Given the description of an element on the screen output the (x, y) to click on. 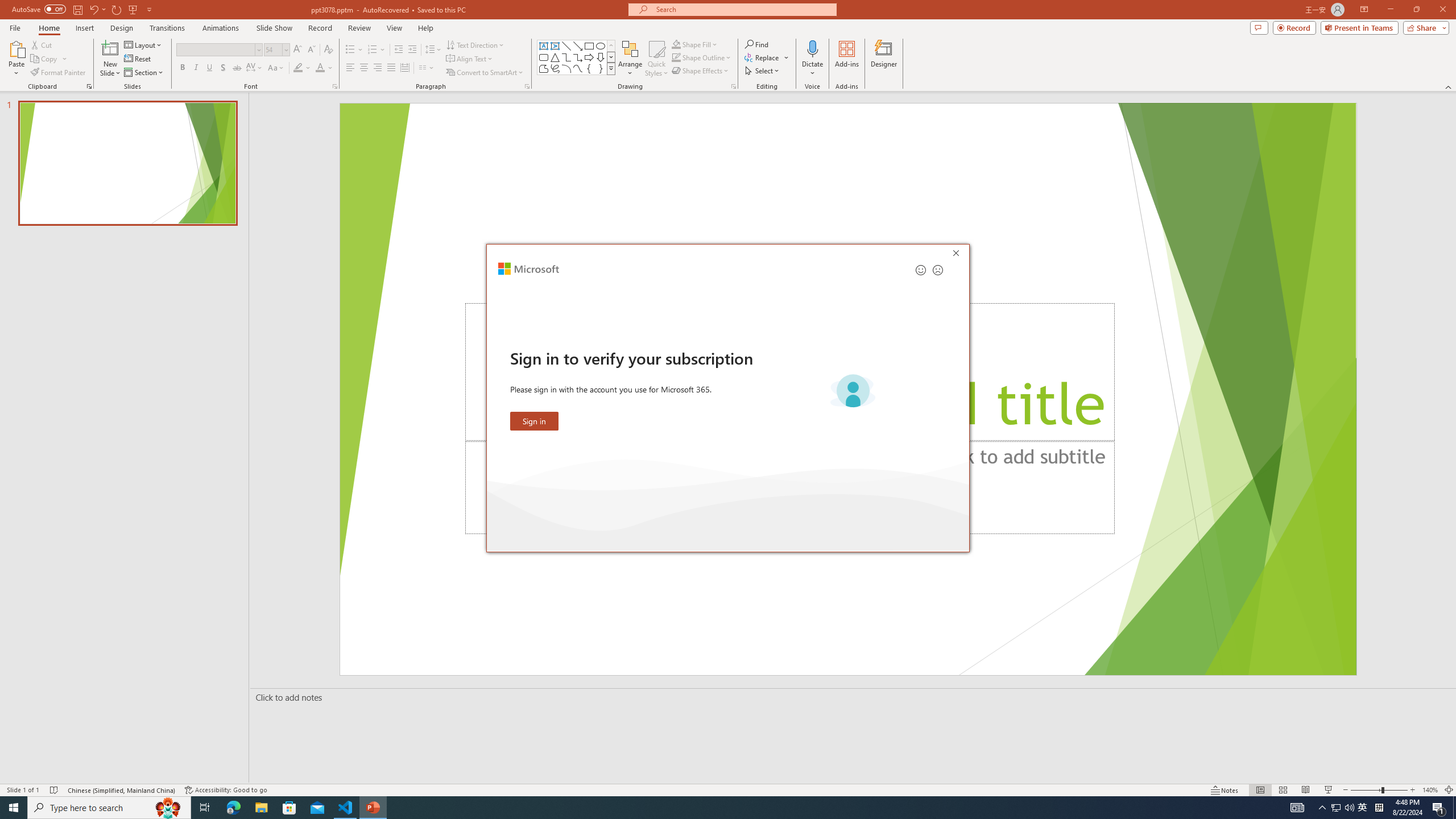
Rectangle: Rounded Corners (543, 57)
Shape Outline Green, Accent 1 (675, 56)
